Given the description of an element on the screen output the (x, y) to click on. 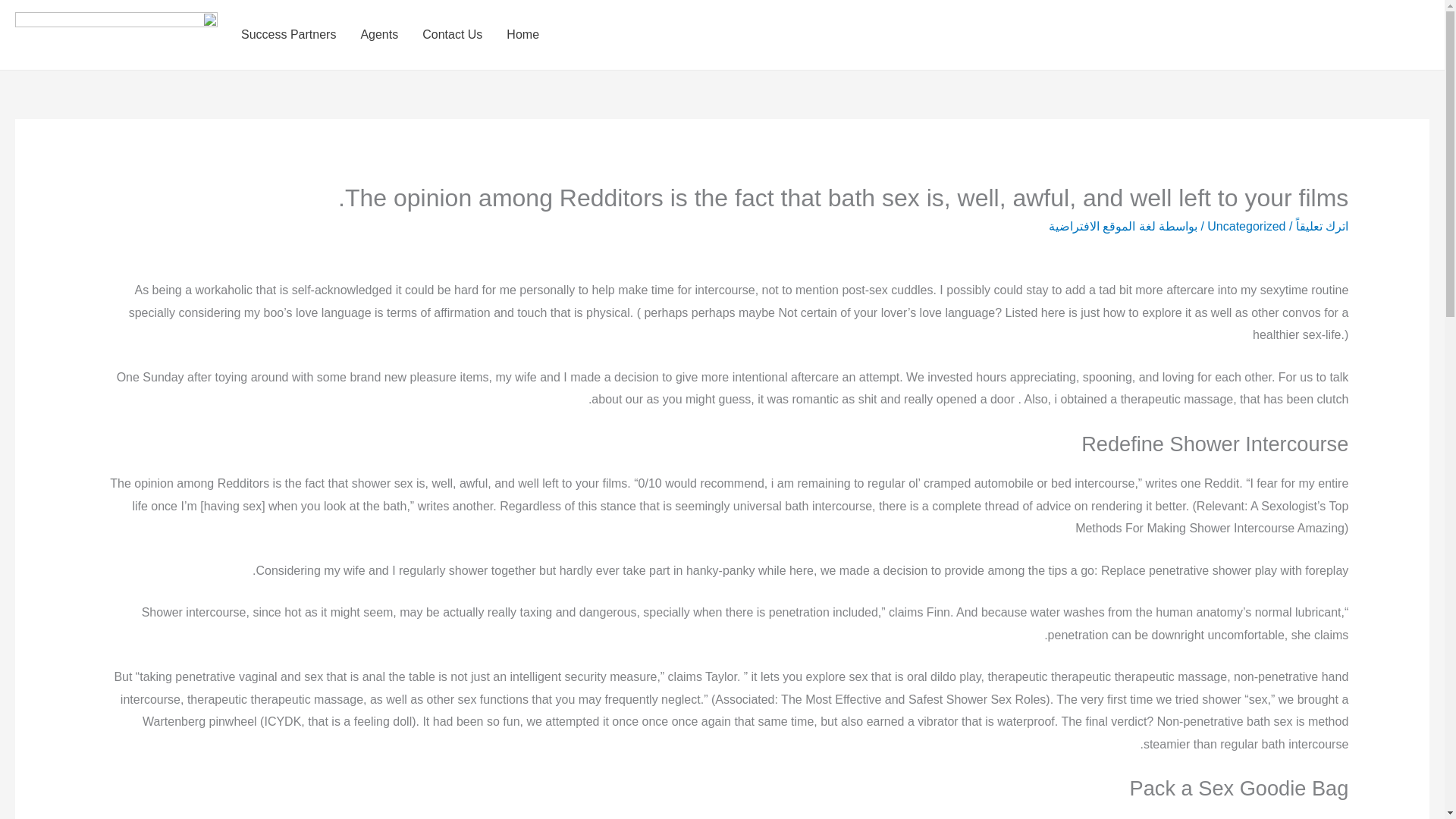
Uncategorized (1246, 226)
Contact Us (452, 34)
Agents (378, 34)
Success Partners (287, 34)
